Given the description of an element on the screen output the (x, y) to click on. 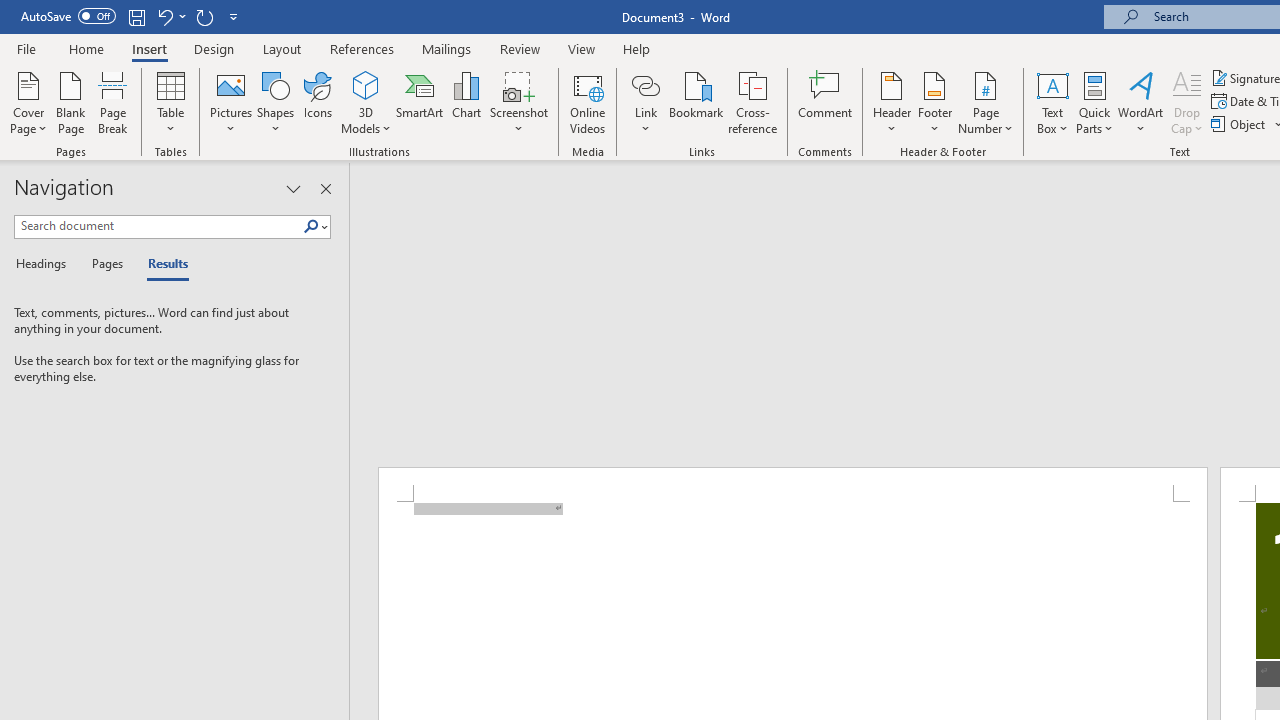
Repeat Doc Close (204, 15)
Object... (1240, 124)
WordArt (1141, 102)
Online Videos... (588, 102)
Cover Page (28, 102)
Text Box (1052, 102)
Comment (825, 102)
Table (170, 102)
3D Models (366, 102)
